Given the description of an element on the screen output the (x, y) to click on. 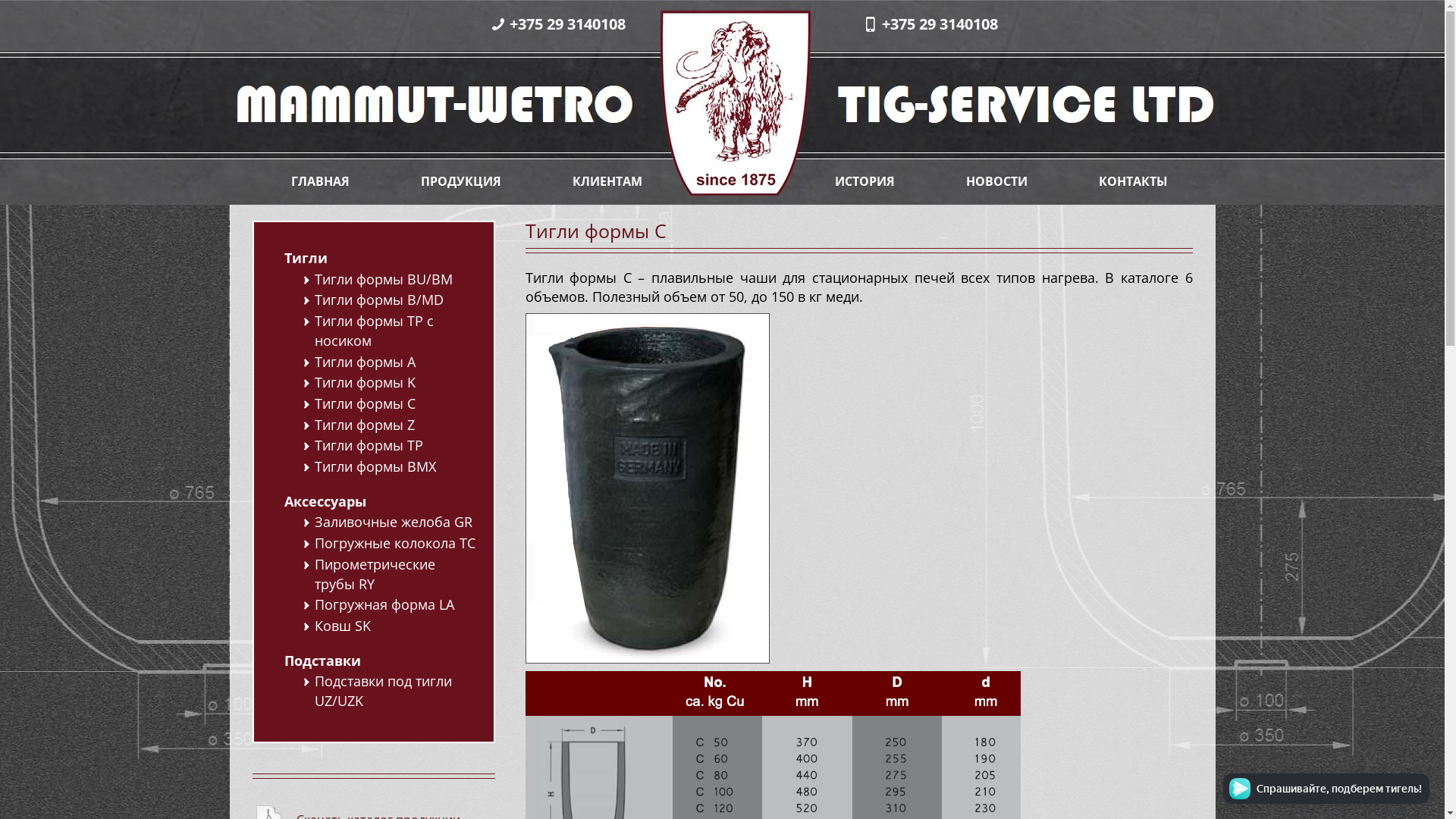
+375 29 3140108 Element type: text (939, 23)
